Given the description of an element on the screen output the (x, y) to click on. 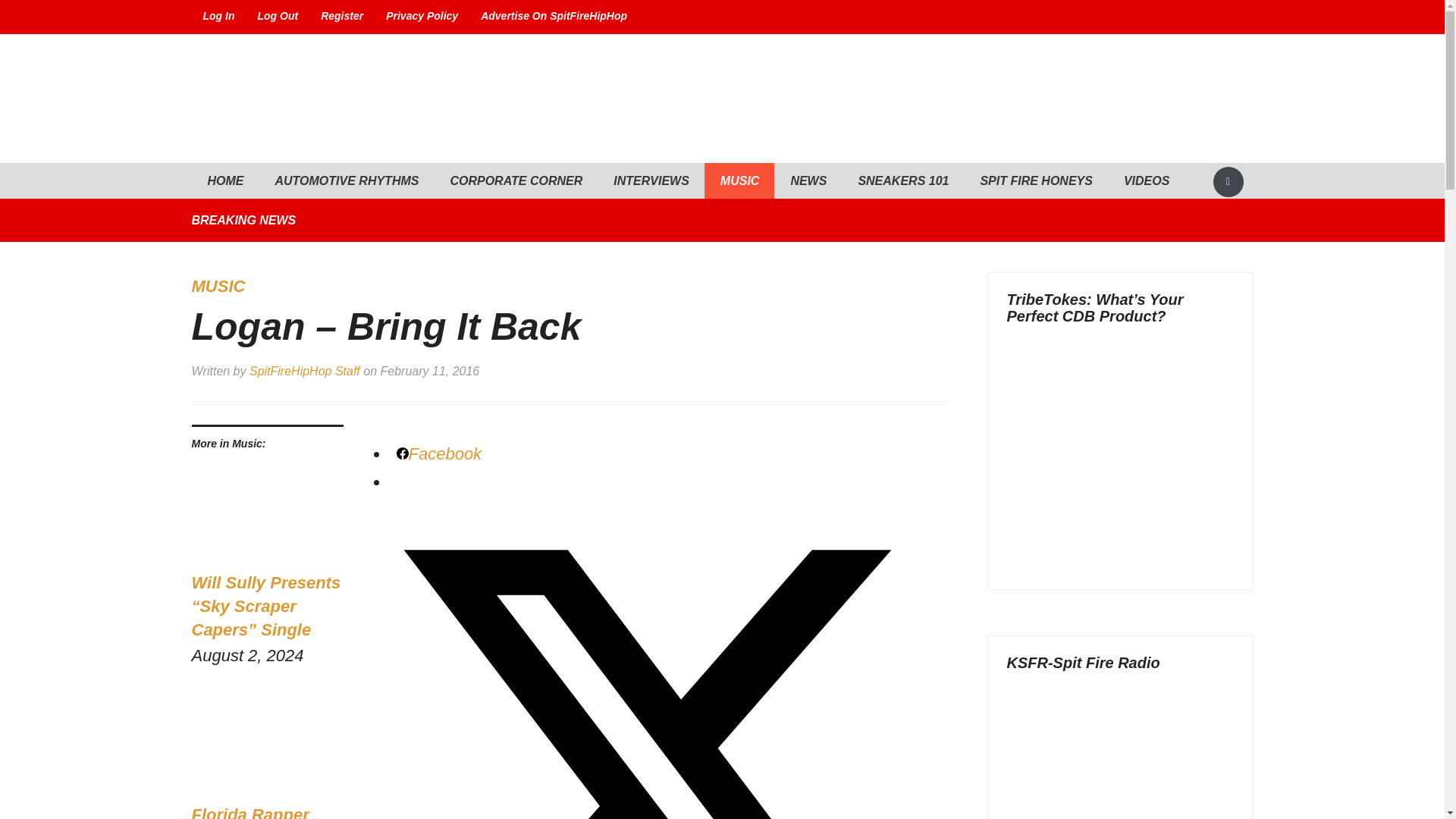
AUTOMOTIVE RHYTHMS (346, 180)
Search (1227, 182)
Privacy Policy (421, 16)
CORPORATE CORNER (514, 180)
INTERVIEWS (650, 180)
MUSIC (739, 180)
Log In (218, 16)
Advertise On SpitFireHipHop (553, 16)
Register (341, 16)
HOME (224, 180)
Log Out (277, 16)
